Given the description of an element on the screen output the (x, y) to click on. 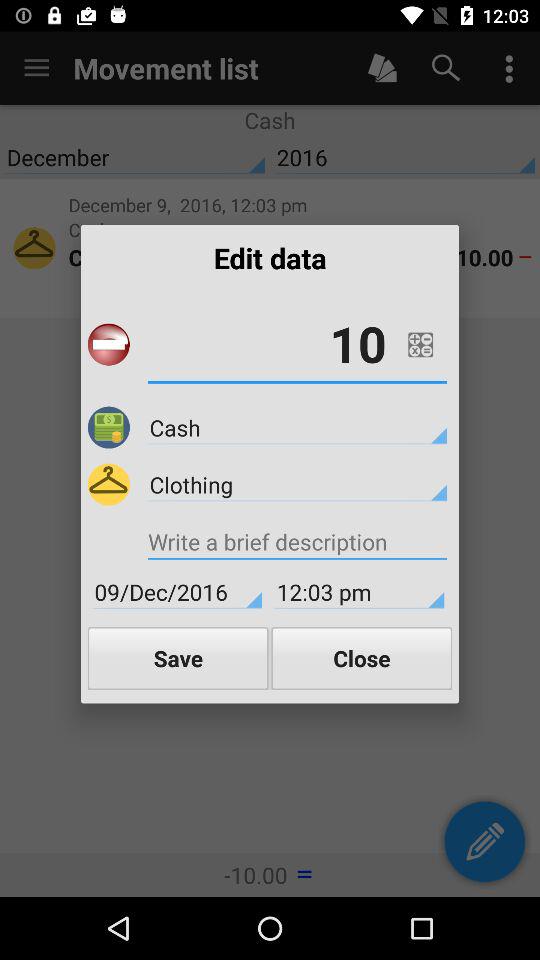
toggle calculator (420, 344)
